Given the description of an element on the screen output the (x, y) to click on. 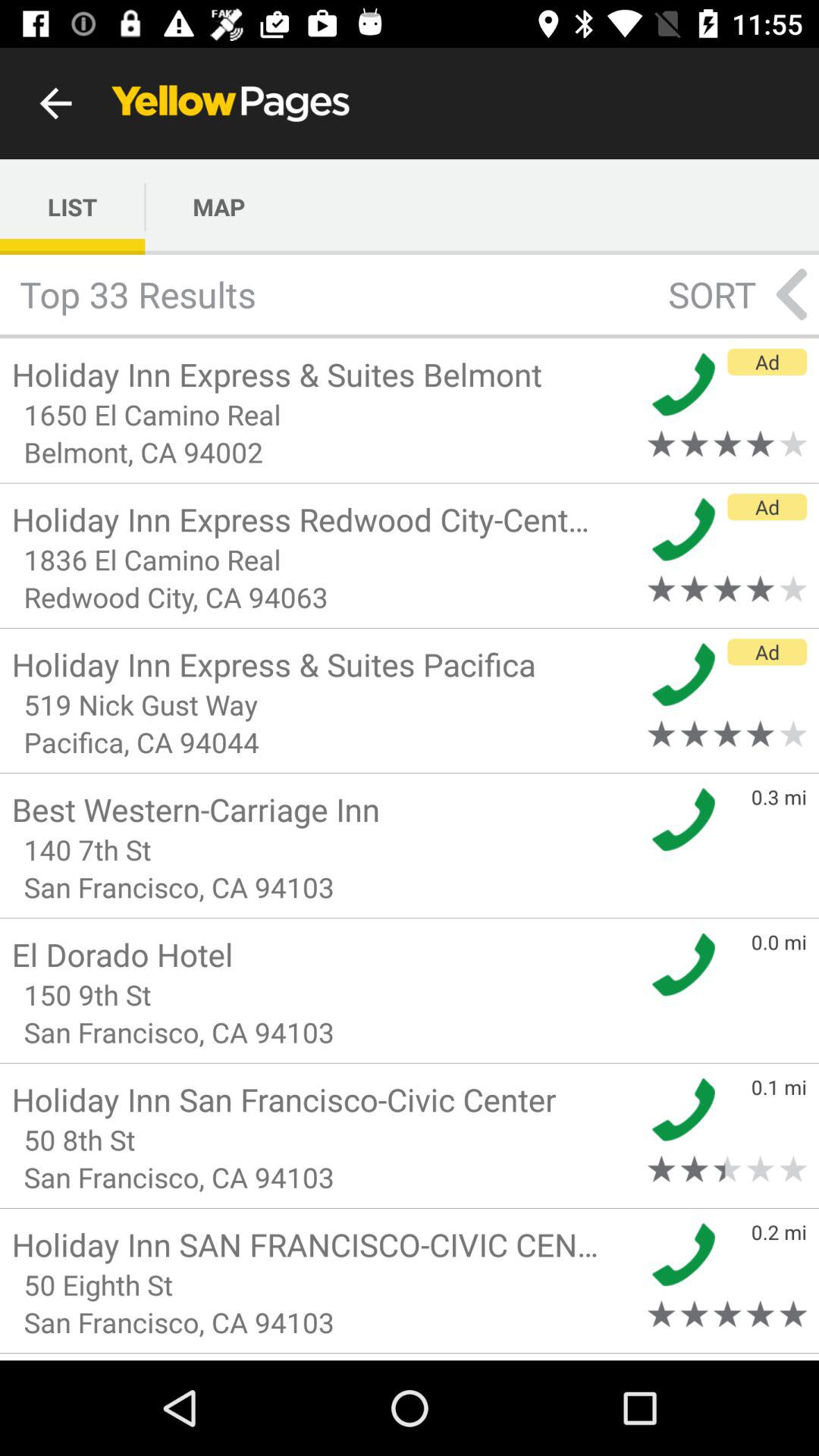
choose item below holiday inn express icon (324, 414)
